Given the description of an element on the screen output the (x, y) to click on. 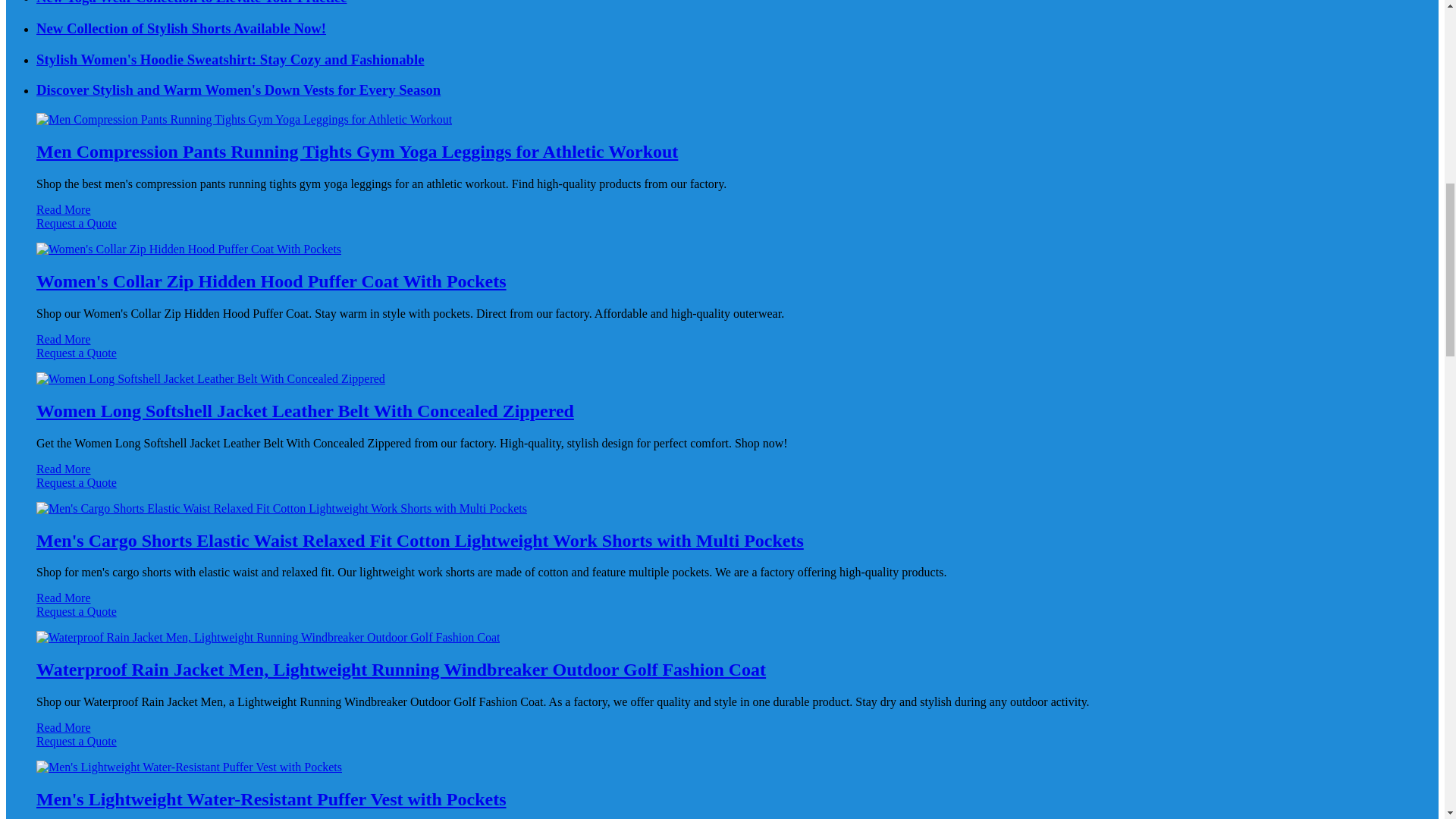
Read More (63, 209)
Request a Quote (721, 230)
